Given the description of an element on the screen output the (x, y) to click on. 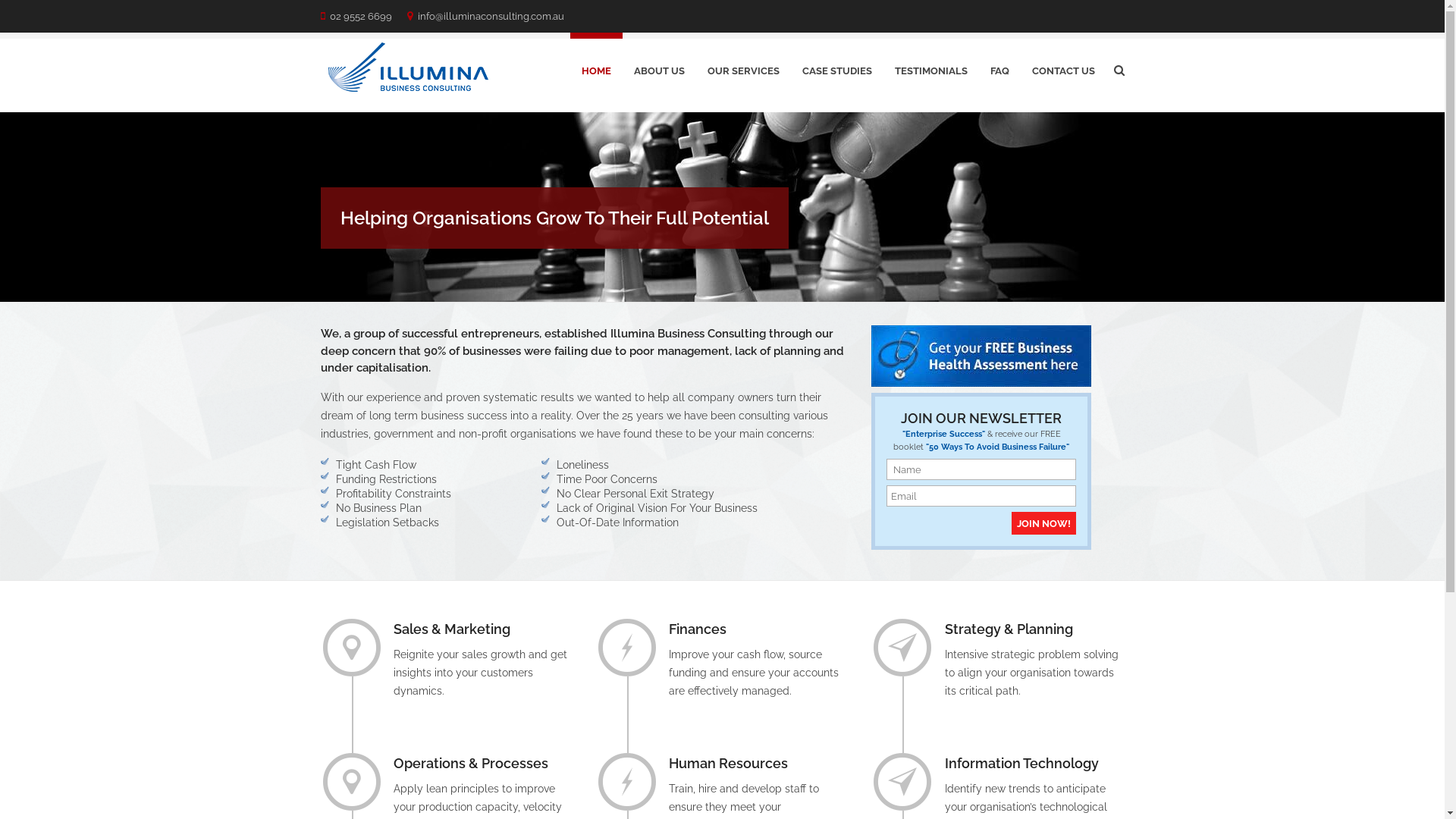
JOIN NOW! Element type: text (1043, 522)
ABOUT US Element type: text (658, 67)
FAQ Element type: text (998, 67)
TESTIMONIALS Element type: text (930, 67)
CONTACT US Element type: text (1063, 67)
HOME Element type: text (596, 67)
OUR SERVICES Element type: text (743, 67)
CASE STUDIES Element type: text (836, 67)
